Given the description of an element on the screen output the (x, y) to click on. 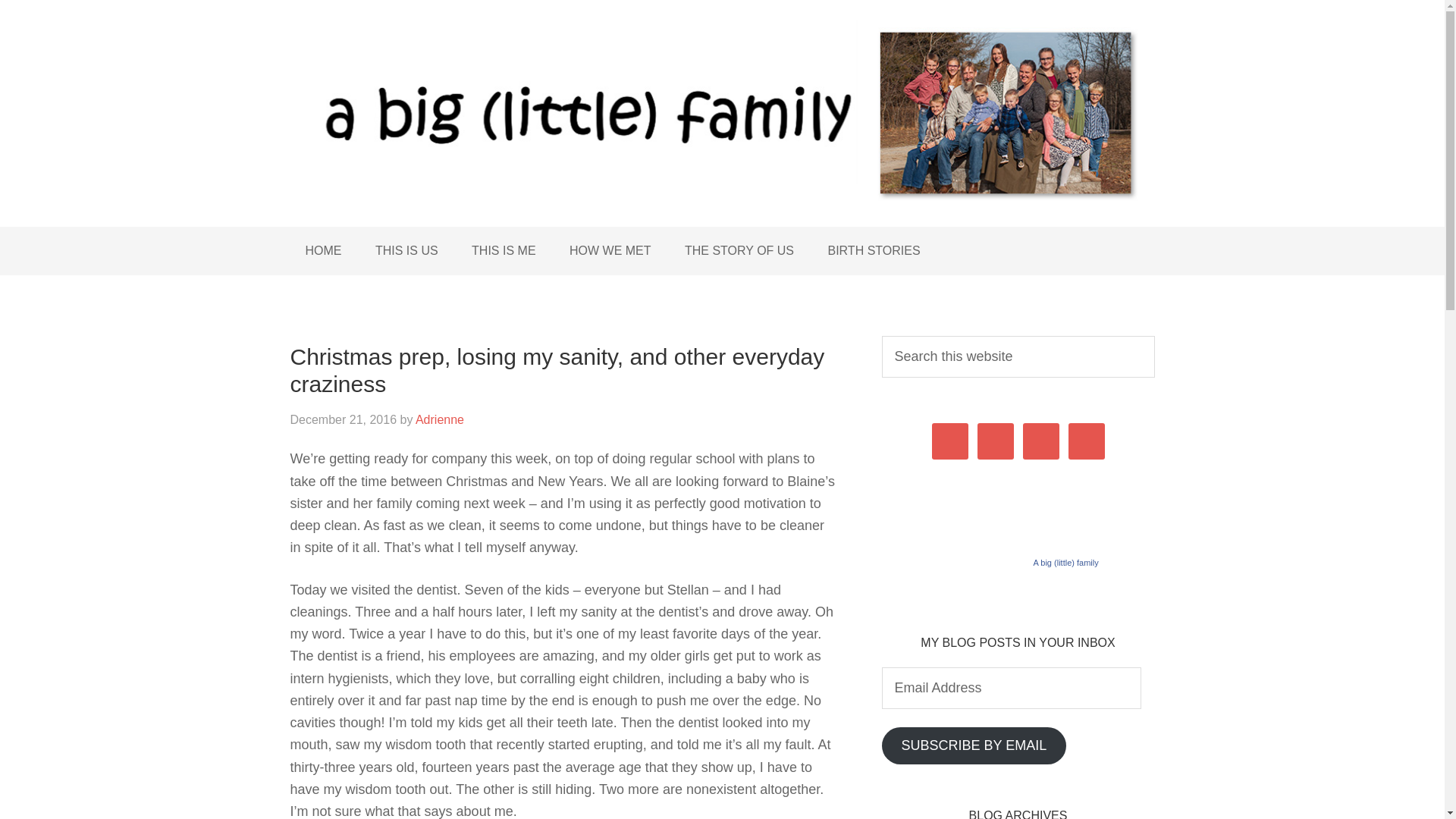
Adrienne (439, 419)
THIS IS ME (503, 250)
HOW WE MET (610, 250)
SUBSCRIBE BY EMAIL (972, 745)
HOME (322, 250)
THE STORY OF US (739, 250)
THIS IS US (405, 250)
BIRTH STORIES (873, 250)
